Given the description of an element on the screen output the (x, y) to click on. 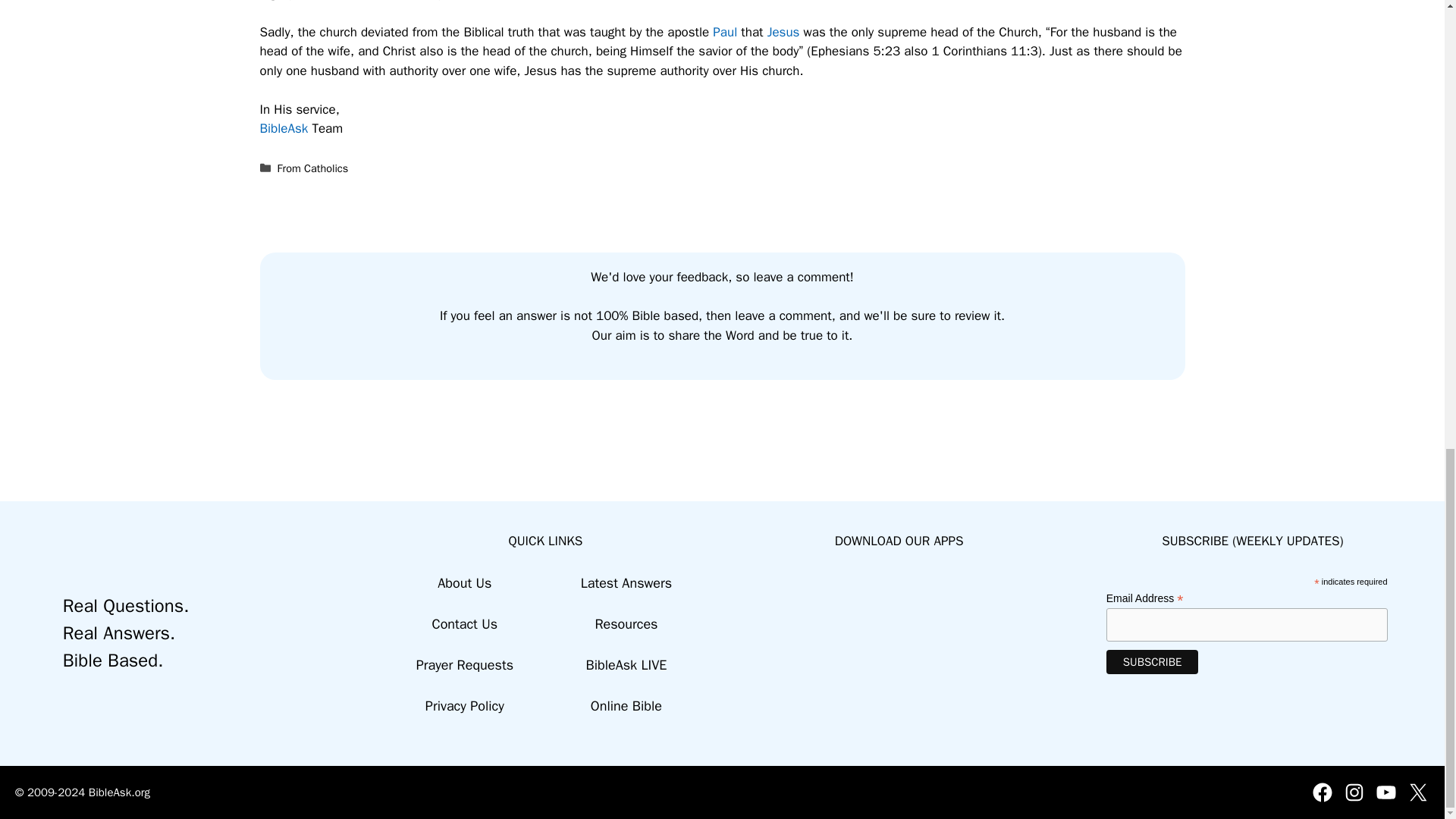
Paul (724, 32)
BibleAsk (283, 128)
Subscribe (1152, 662)
Jesus (783, 32)
